Given the description of an element on the screen output the (x, y) to click on. 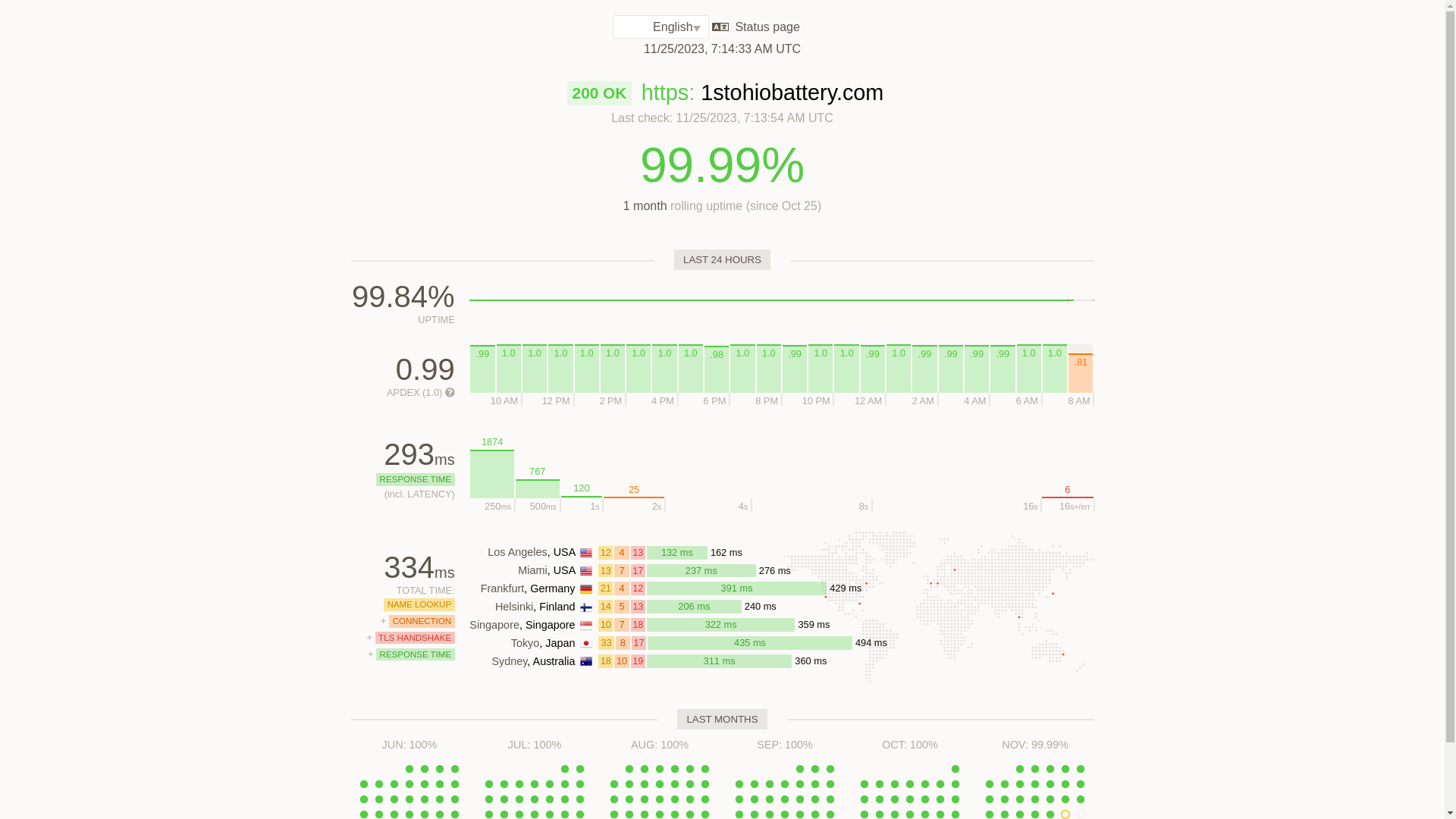
<small>Aug 10:</small> No downtime Element type: hover (659, 783)
<small>Jun 05:</small> No downtime Element type: hover (363, 783)
<small>Jun 06:</small> No downtime Element type: hover (378, 783)
<small>Jun 01:</small> No downtime Element type: hover (409, 768)
<small>Jul 06:</small> No downtime Element type: hover (534, 783)
<small>Aug 07:</small> No downtime Element type: hover (613, 783)
<small>Jun 09:</small> No downtime Element type: hover (424, 783)
<small>Jun 18:</small> No downtime Element type: hover (454, 798)
Not monitored yet Element type: hover (1083, 300)
<small>Jun 08:</small> No downtime Element type: hover (409, 783)
<small>Aug 02:</small> No downtime Element type: hover (644, 768)
<small>Aug 01:</small> No downtime Element type: hover (629, 768)
<small>Sep 13:</small> No downtime Element type: hover (769, 798)
<small>Jun 12:</small> No downtime Element type: hover (363, 798)
<small>Aug 05:</small> No downtime Element type: hover (689, 768)
<small>Jul 08:</small> No downtime Element type: hover (564, 783)
<small>Jul 07:</small> No downtime Element type: hover (549, 783)
<small>Sep 03:</small> No downtime Element type: hover (829, 768)
<small>Sep 05:</small> No downtime Element type: hover (754, 783)
<small>Aug 08:</small> No downtime Element type: hover (629, 783)
<small>Jul 11:</small> No downtime Element type: hover (503, 798)
<small>Sep 17:</small> No downtime Element type: hover (829, 798)
<small>Sep 12:</small> No downtime Element type: hover (754, 798)
<small>Sep 14:</small> No downtime Element type: hover (784, 798)
<small>Sep 01:</small> No downtime Element type: hover (799, 768)
<small>Jul 03:</small> No downtime Element type: hover (488, 783)
<small>Sep 07:</small> No downtime Element type: hover (784, 783)
<small>Jun 07:</small> No downtime Element type: hover (393, 783)
<small>Jun 13:</small> No downtime Element type: hover (378, 798)
<small>Jul 14:</small> No downtime Element type: hover (549, 798)
<small>Sep 04:</small> No downtime Element type: hover (738, 783)
<small>Aug 03:</small> No downtime Element type: hover (659, 768)
<small>Aug 09:</small> No downtime Element type: hover (644, 783)
<small>Aug 06:</small> No downtime Element type: hover (704, 768)
<small>Aug 12:</small> No downtime Element type: hover (689, 783)
<small>Jul 09:</small> No downtime Element type: hover (579, 783)
<small>Jun 02:</small> No downtime Element type: hover (424, 768)
<small>Aug 17:</small> No downtime Element type: hover (659, 798)
<small>Jul 01:</small> No downtime Element type: hover (564, 768)
<small>Sep 09:</small> No downtime Element type: hover (814, 783)
<small>Aug 13:</small> No downtime Element type: hover (704, 783)
<small>Jul 05:</small> No downtime Element type: hover (519, 783)
<small>Jul 04:</small> No downtime Element type: hover (503, 783)
<small>Aug 20:</small> No downtime Element type: hover (704, 798)
<small>Sep 06:</small> No downtime Element type: hover (769, 783)
<small>Jul 02:</small> No downtime Element type: hover (579, 768)
<small>Sep 11:</small> No downtime Element type: hover (738, 798)
<small>Aug 04:</small> No downtime Element type: hover (674, 768)
<small>Jun 11:</small> No downtime Element type: hover (454, 783)
<small>Sep 02:</small> No downtime Element type: hover (814, 768)
<small>Sep 10:</small> No downtime Element type: hover (829, 783)
<small>Aug 18:</small> No downtime Element type: hover (674, 798)
<small>Jul 10:</small> No downtime Element type: hover (488, 798)
<small>Aug 11:</small> No downtime Element type: hover (674, 783)
<small>Aug 14:</small> No downtime Element type: hover (613, 798)
<small>Jul 13:</small> No downtime Element type: hover (534, 798)
<small>Jun 03:</small> No downtime Element type: hover (439, 768)
<small>Jun 10:</small> No downtime Element type: hover (439, 783)
<small>Jun 17:</small> No downtime Element type: hover (439, 798)
<small>Jun 14:</small> No downtime Element type: hover (393, 798)
<small>Aug 19:</small> No downtime Element type: hover (689, 798)
<small>Jul 12:</small> No downtime Element type: hover (519, 798)
<small>Jun 04:</small> No downtime Element type: hover (454, 768)
<small>Sep 08:</small> No downtime Element type: hover (799, 783)
